Given the description of an element on the screen output the (x, y) to click on. 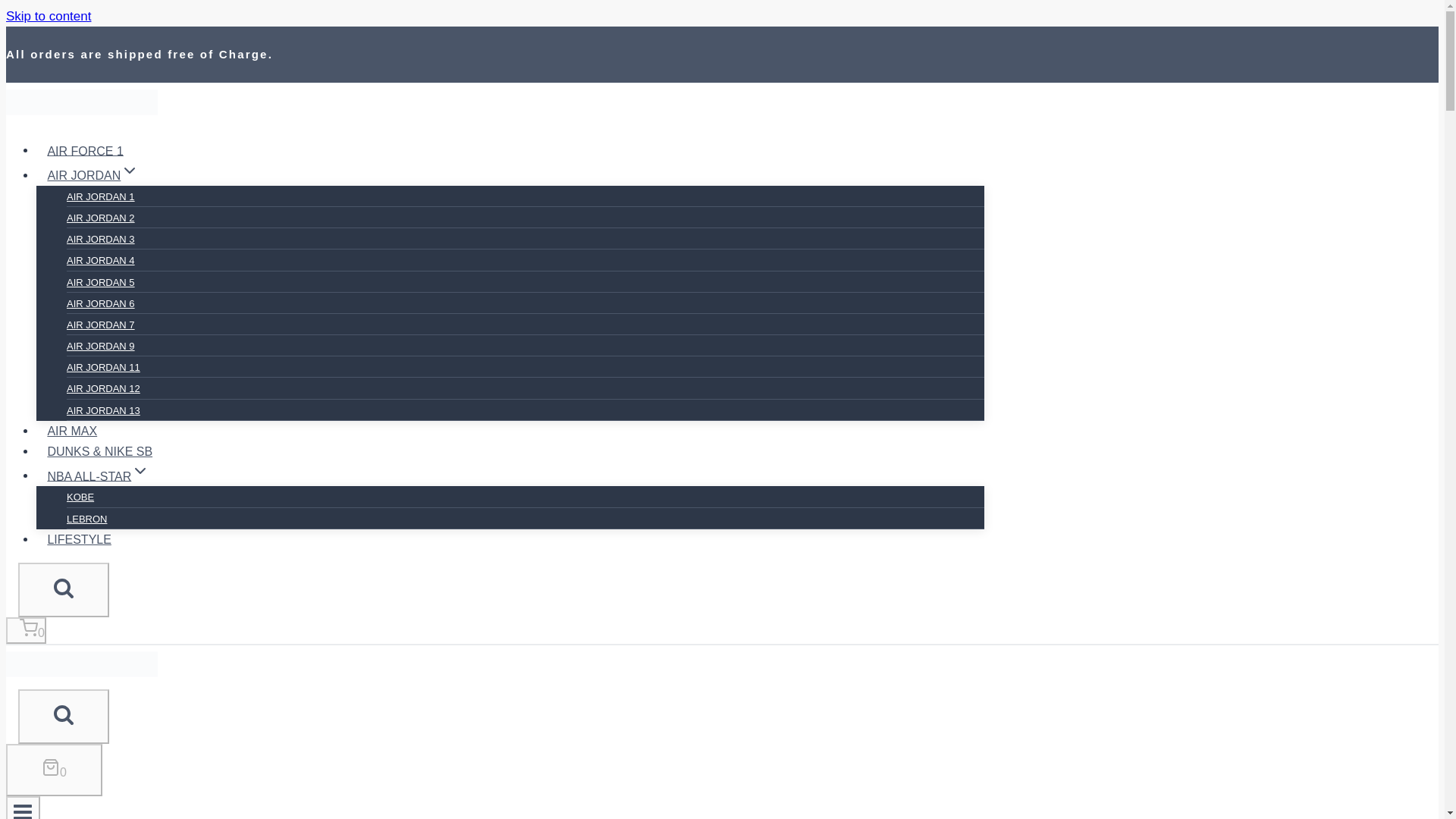
Skip to content (47, 16)
AIR JORDAN 4 (100, 260)
TOGGLE MENU (22, 810)
AIR JORDAN 12 (102, 388)
SHOPPING CART 0 (53, 769)
LIFESTYLE (79, 538)
AIR JORDANEXPAND (92, 175)
AIR JORDAN 1 (100, 196)
AIR JORDAN 11 (102, 367)
AIR JORDAN 9 (100, 345)
SEARCH (63, 713)
SEARCH (63, 716)
EXPAND (129, 170)
AIR JORDAN 3 (100, 238)
EXPAND (140, 470)
